Given the description of an element on the screen output the (x, y) to click on. 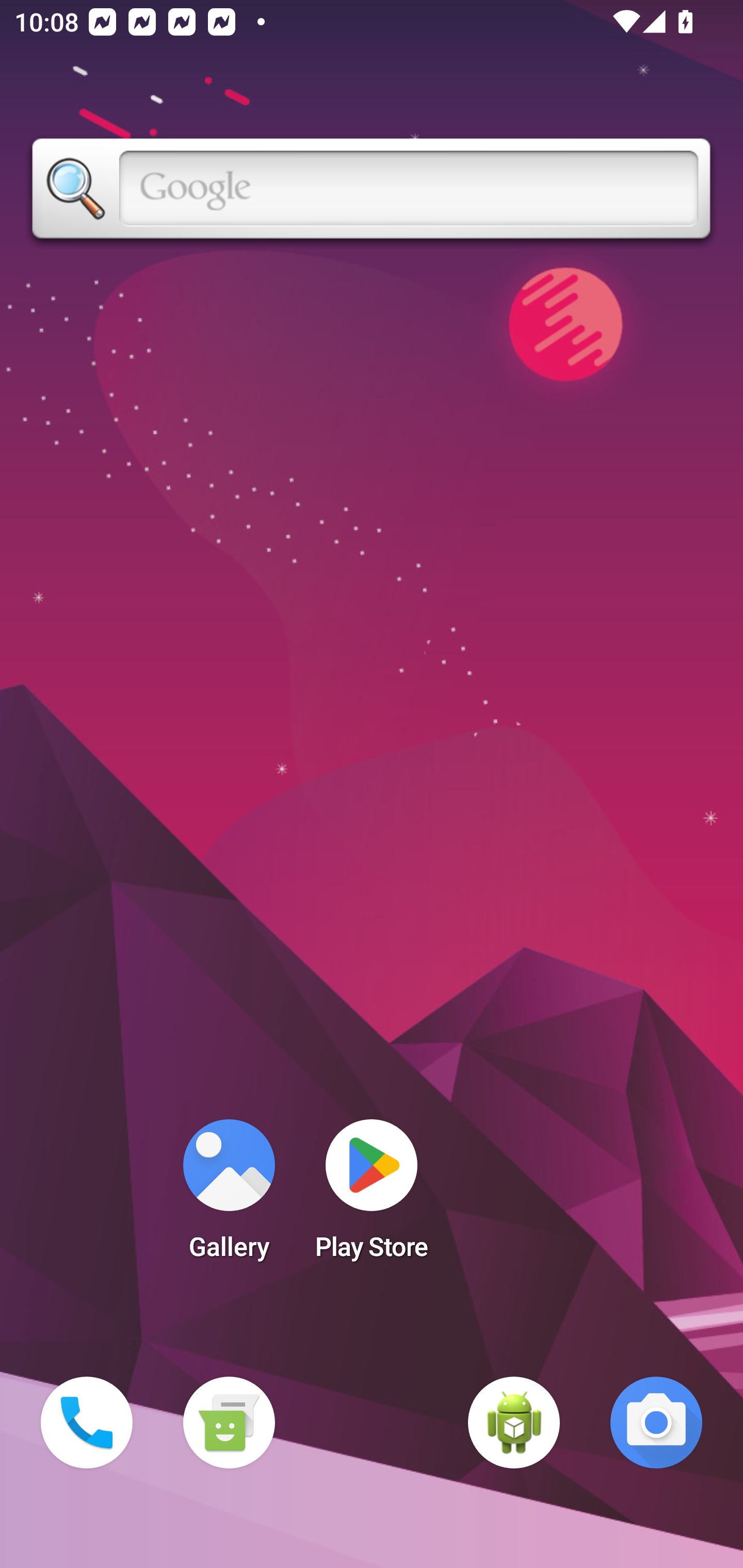
Gallery (228, 1195)
Play Store (371, 1195)
Phone (86, 1422)
Messaging (228, 1422)
WebView Browser Tester (513, 1422)
Camera (656, 1422)
